Given the description of an element on the screen output the (x, y) to click on. 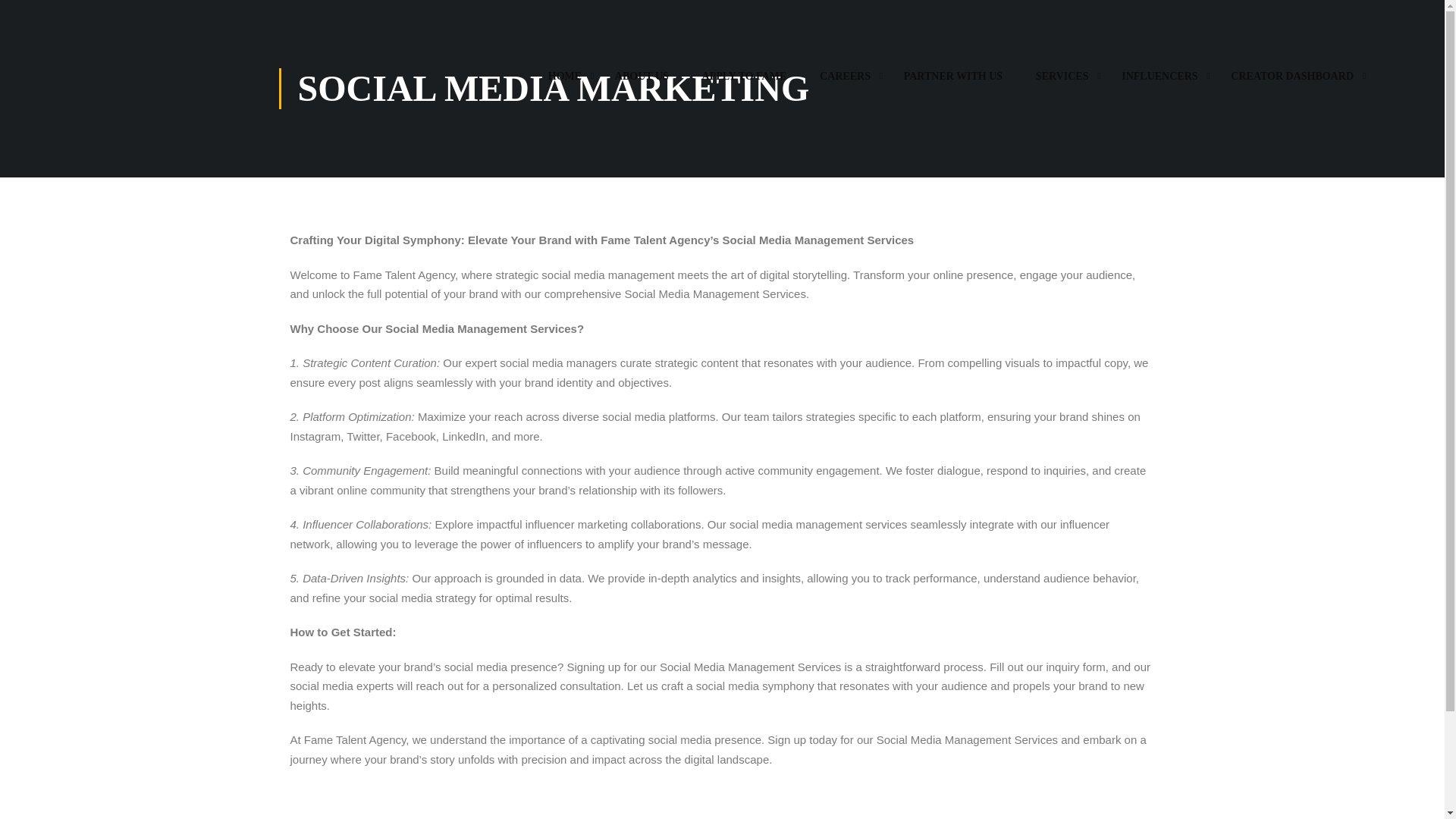
PARTNER WITH US (952, 83)
ABOUT US (641, 83)
APPLY TO FAME (744, 83)
CAREERS (845, 83)
HOME (564, 83)
SERVICES (1061, 83)
